Given the description of an element on the screen output the (x, y) to click on. 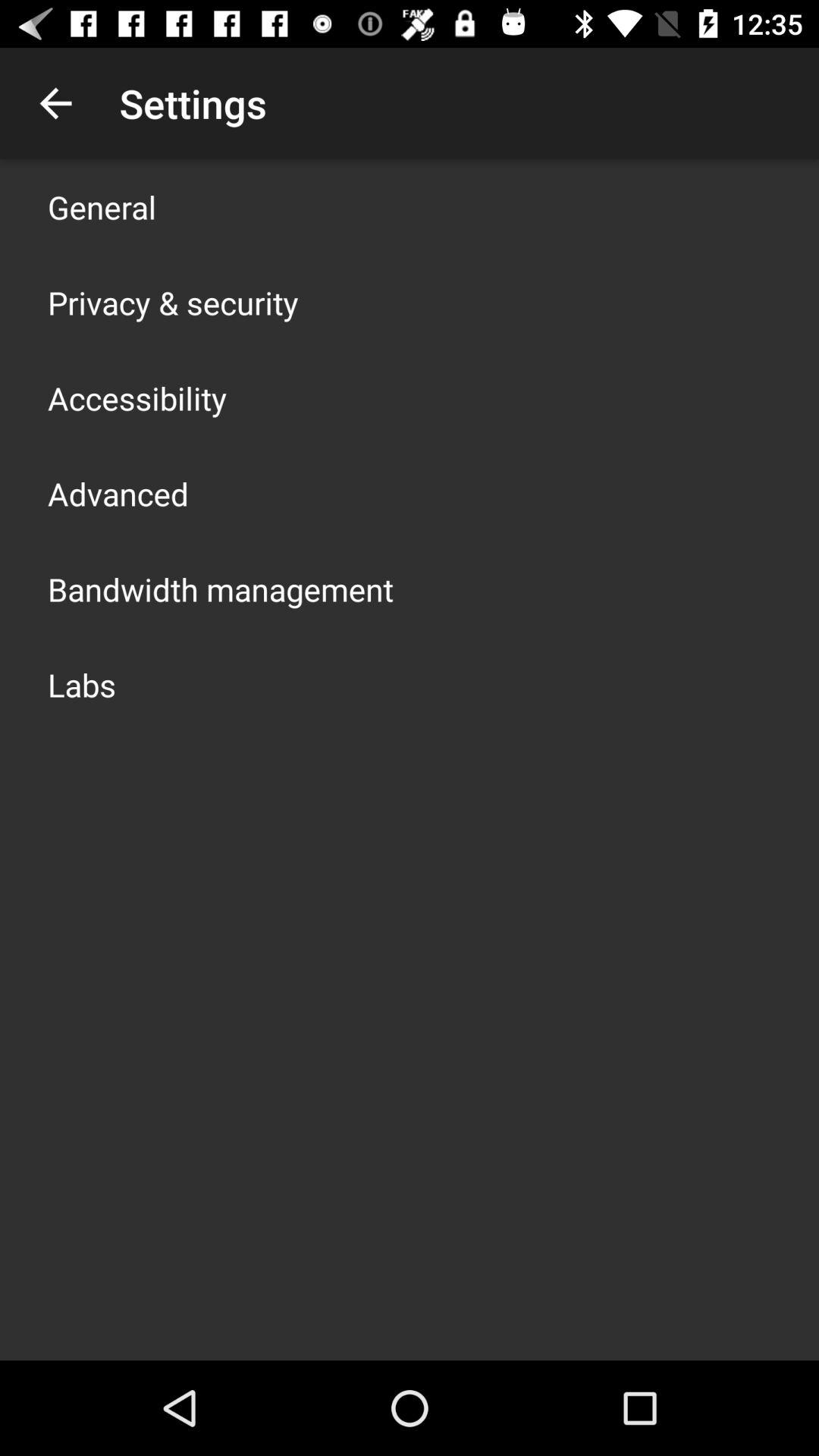
select icon above the privacy & security app (101, 206)
